Given the description of an element on the screen output the (x, y) to click on. 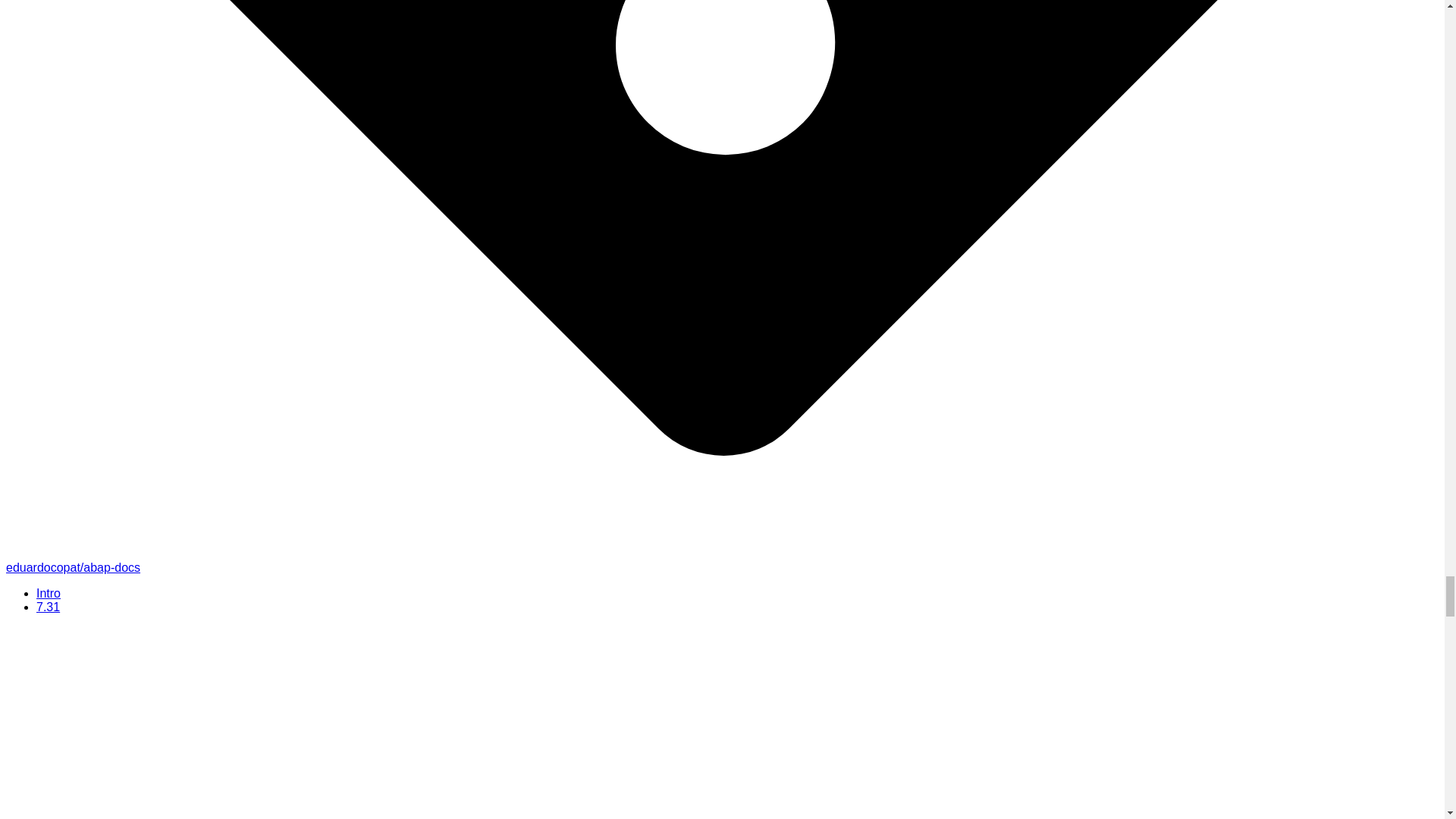
7.31 (47, 606)
Intro (48, 593)
Intro (48, 593)
7.31 (47, 606)
